Given the description of an element on the screen output the (x, y) to click on. 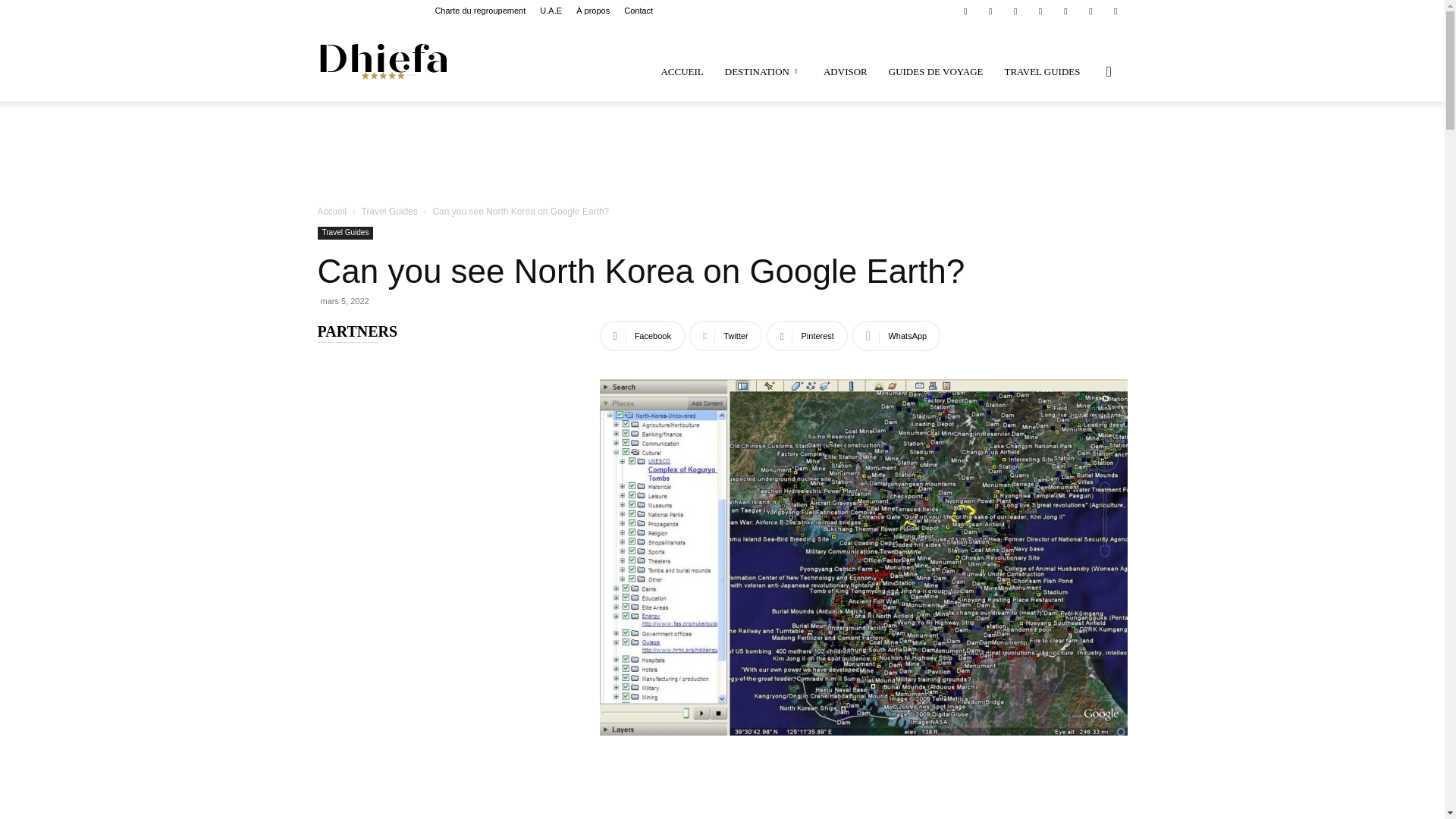
Tumblr (1065, 10)
Charte du regroupement (479, 10)
Pinterest (1040, 10)
U.A.E (551, 10)
Youtube (1114, 10)
Twitter (1090, 10)
Facebook (964, 10)
Linkedin (989, 10)
Mail (1015, 10)
Contact (638, 10)
